Given the description of an element on the screen output the (x, y) to click on. 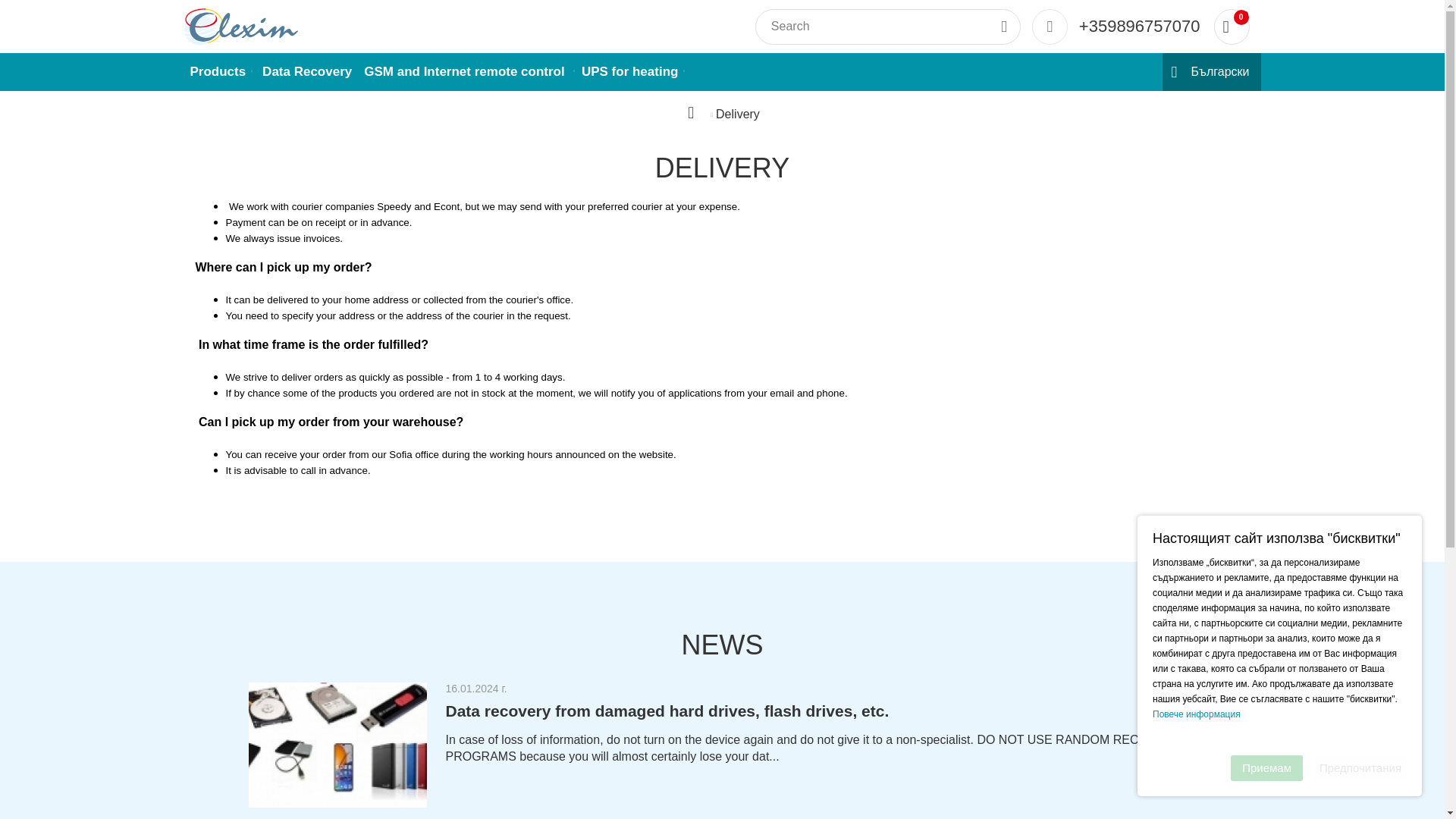
Home (695, 113)
GSM and Internet remote control (466, 71)
Data Recovery (307, 71)
UPS for heating (630, 71)
Products (1230, 27)
GSM and Internet remote control  (217, 71)
Data Recovery (466, 71)
UPS for heating (337, 744)
